Given the description of an element on the screen output the (x, y) to click on. 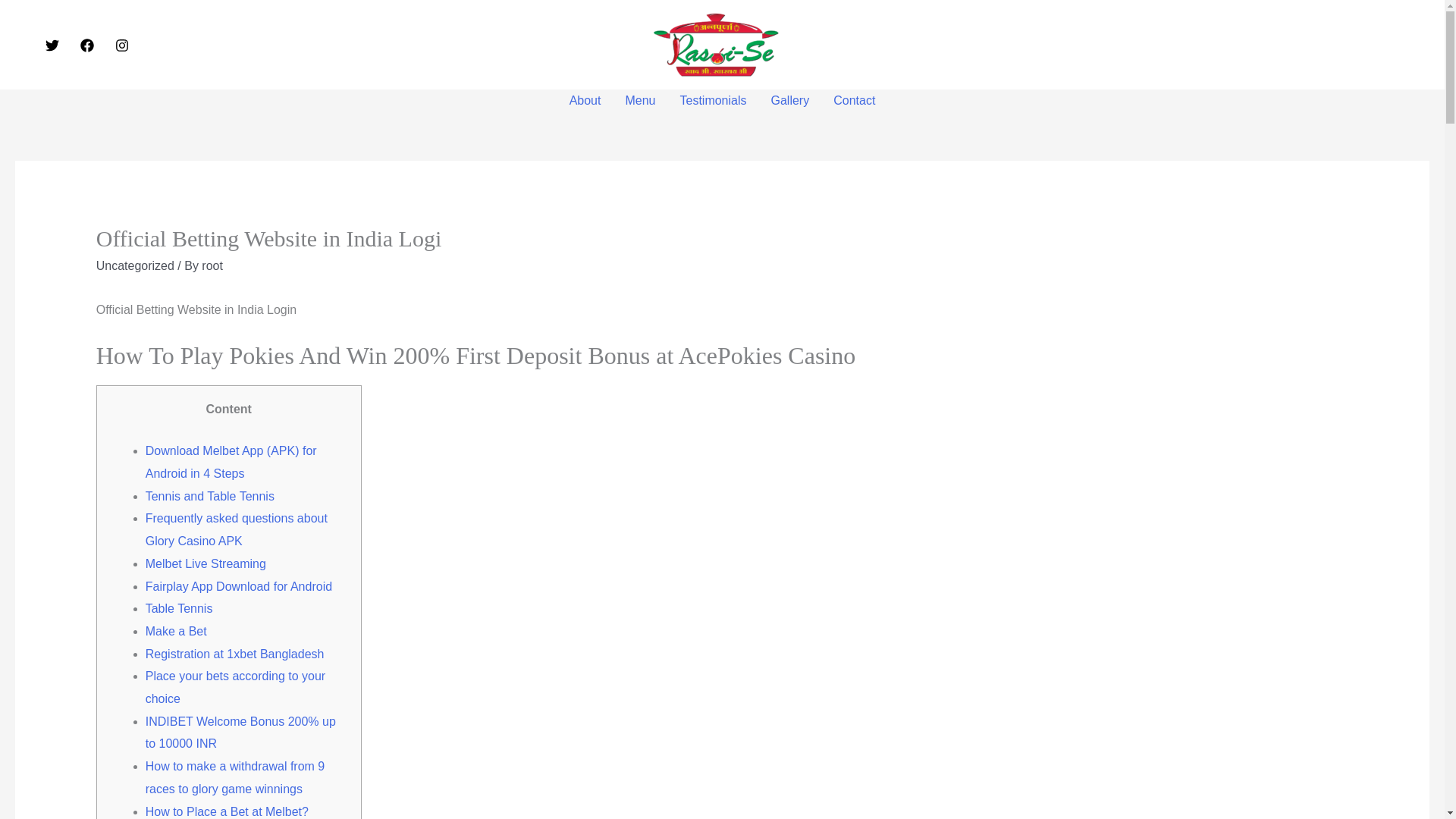
Registration at 1xbet Bangladesh (234, 653)
Tennis and Table Tennis (210, 495)
Contact (853, 100)
Make a Bet (175, 631)
Uncategorized (135, 265)
How to Place a Bet at Melbet? (226, 811)
Testimonials (712, 100)
Fairplay App Download for Android (238, 585)
Frequently asked questions about Glory Casino APK (236, 529)
View all posts by root (212, 265)
root (212, 265)
How to make a withdrawal from 9 races to glory game winnings (234, 777)
Place your bets according to your choice (234, 687)
Table Tennis (178, 608)
About (584, 100)
